Given the description of an element on the screen output the (x, y) to click on. 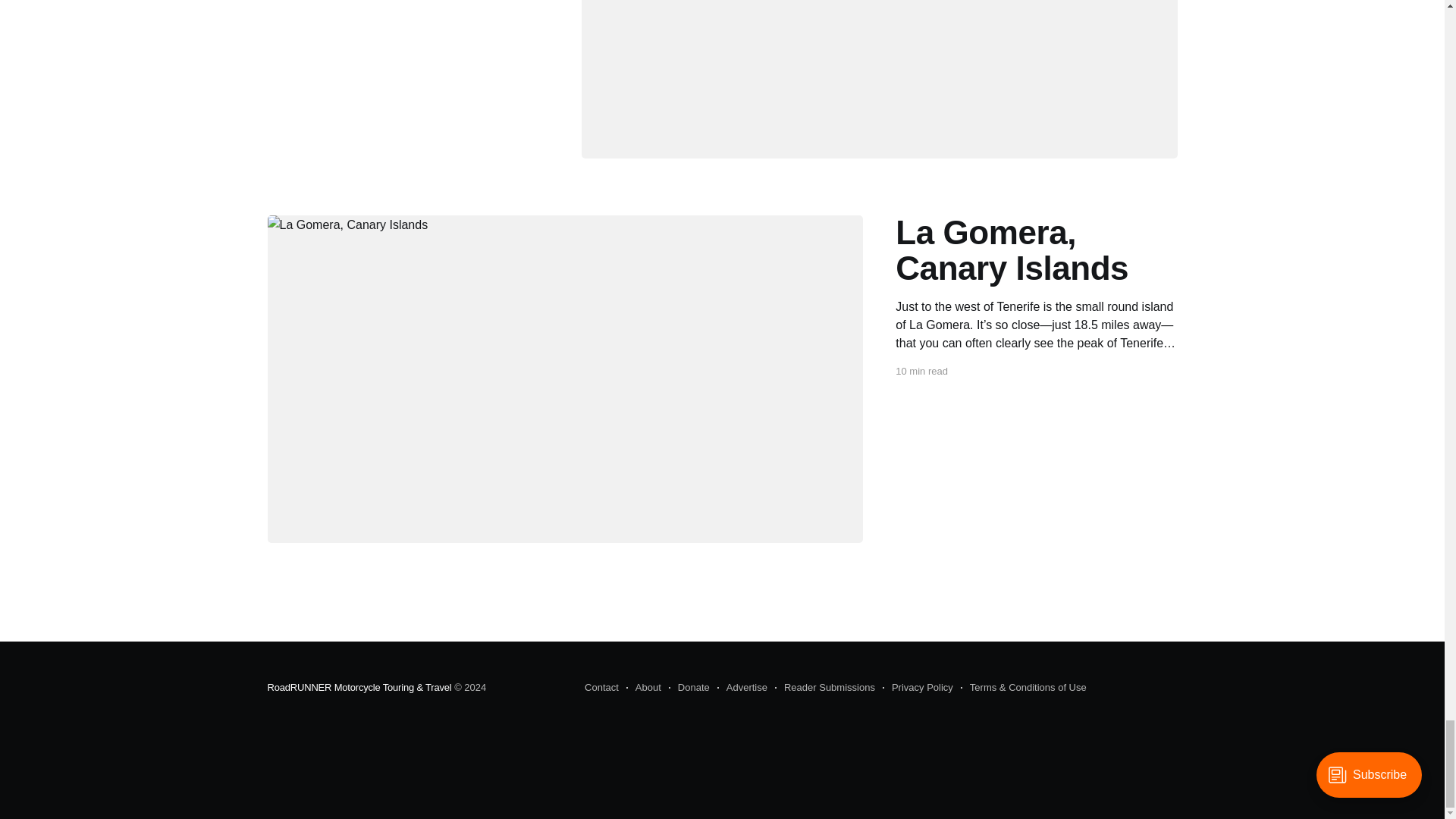
About (643, 687)
Donate (689, 687)
Privacy Policy (917, 687)
Contact (601, 687)
Advertise (742, 687)
Reader Submissions (824, 687)
